Given the description of an element on the screen output the (x, y) to click on. 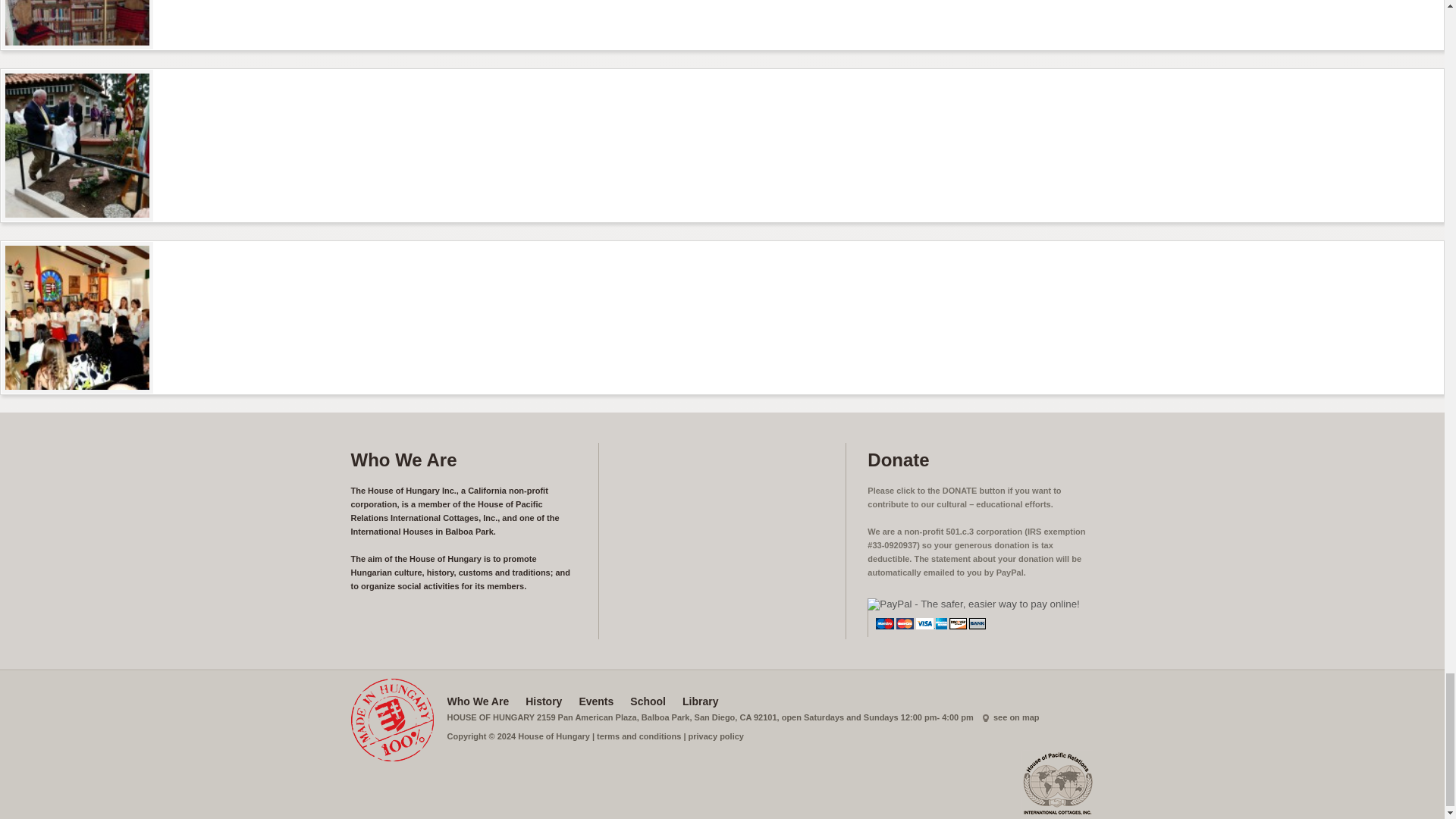
This site was made in Hungary! (391, 719)
